Given the description of an element on the screen output the (x, y) to click on. 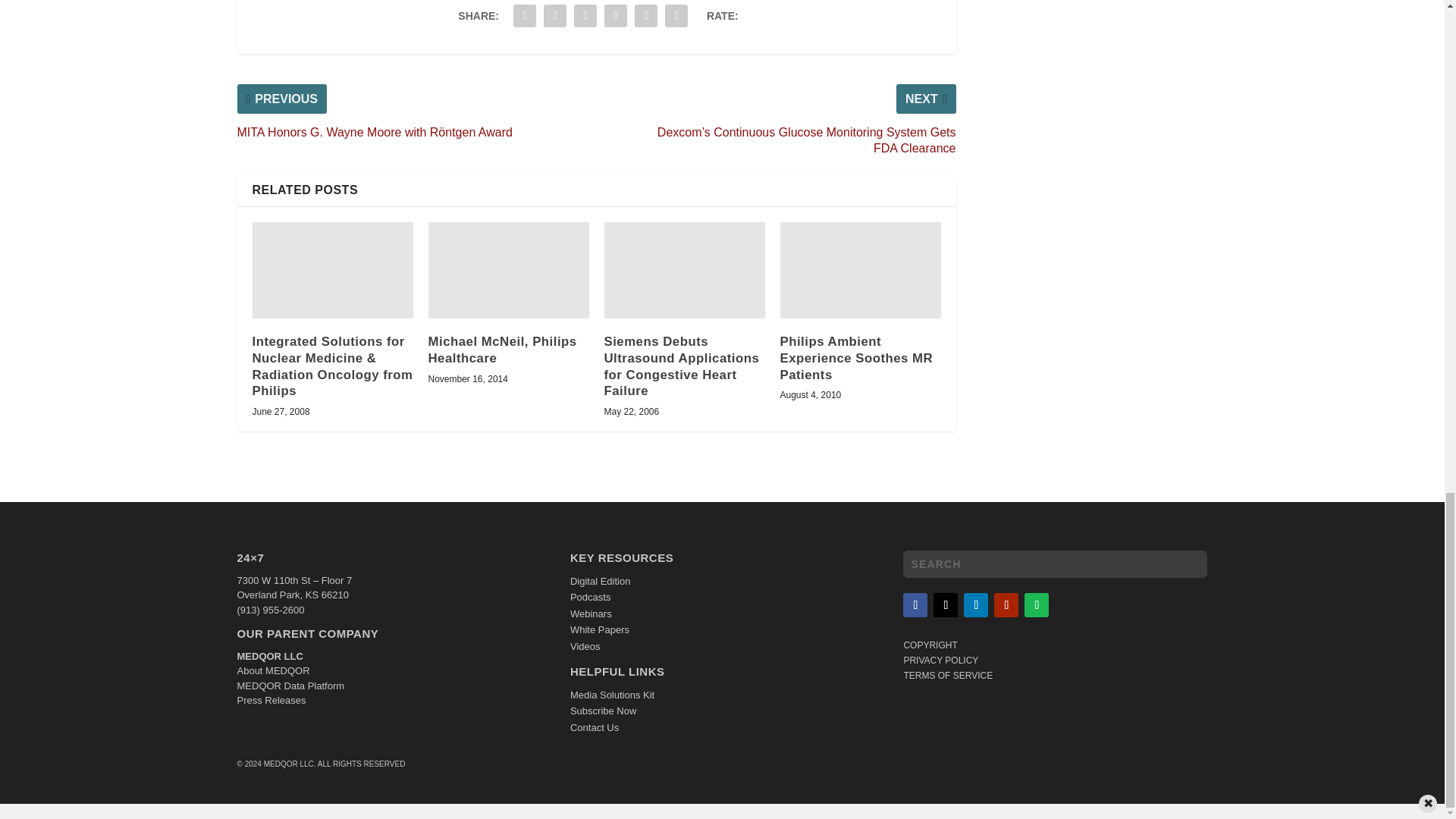
Follow on Youtube (1005, 604)
Michael McNeil, Philips Healthcare (508, 269)
Follow on Facebook (914, 604)
Follow on X (945, 604)
Follow on LinkedIn (975, 604)
Follow on Spotify (1036, 604)
Philips Ambient Experience Soothes MR Patients (859, 269)
